Given the description of an element on the screen output the (x, y) to click on. 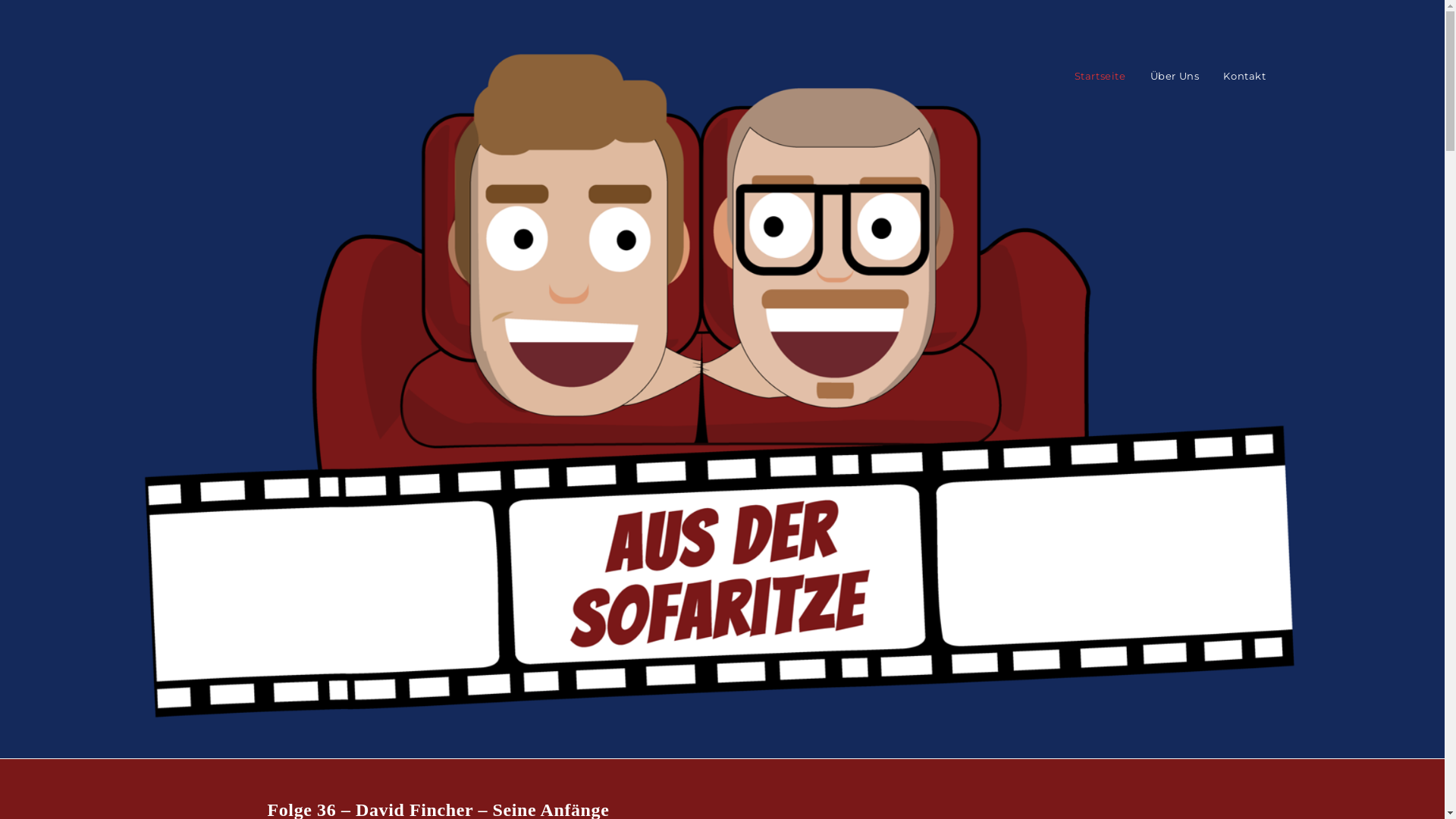
Startseite Element type: text (1100, 75)
Kontakt Element type: text (1244, 75)
